Given the description of an element on the screen output the (x, y) to click on. 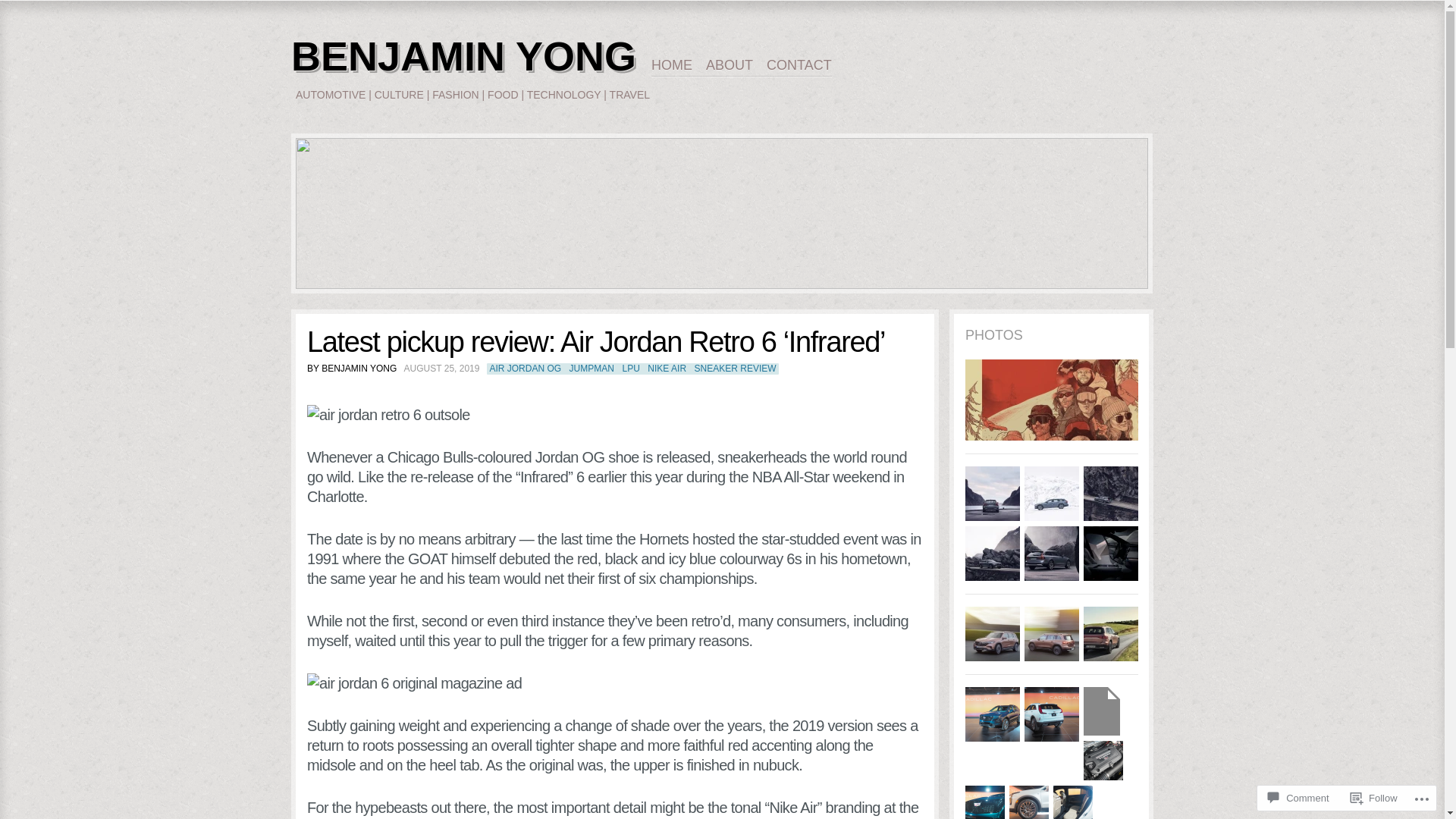
SKIP TO CONTENT Element type: text (712, 65)
HOME Element type: text (678, 65)
Comment Element type: text (1297, 797)
Benjamin Yong Element type: hover (721, 213)
SNEAKER REVIEW Element type: text (735, 368)
AUGUST 25, 2019 Element type: text (439, 368)
BENJAMIN YONG Element type: text (463, 55)
JUMPMAN Element type: text (591, 368)
CONTACT Element type: text (798, 65)
NIKE AIR Element type: text (666, 368)
Follow Element type: text (1373, 797)
BY BENJAMIN YONG Element type: text (351, 368)
AIR JORDAN OG Element type: text (525, 368)
ABOUT Element type: text (736, 65)
LPU Element type: text (630, 368)
